Given the description of an element on the screen output the (x, y) to click on. 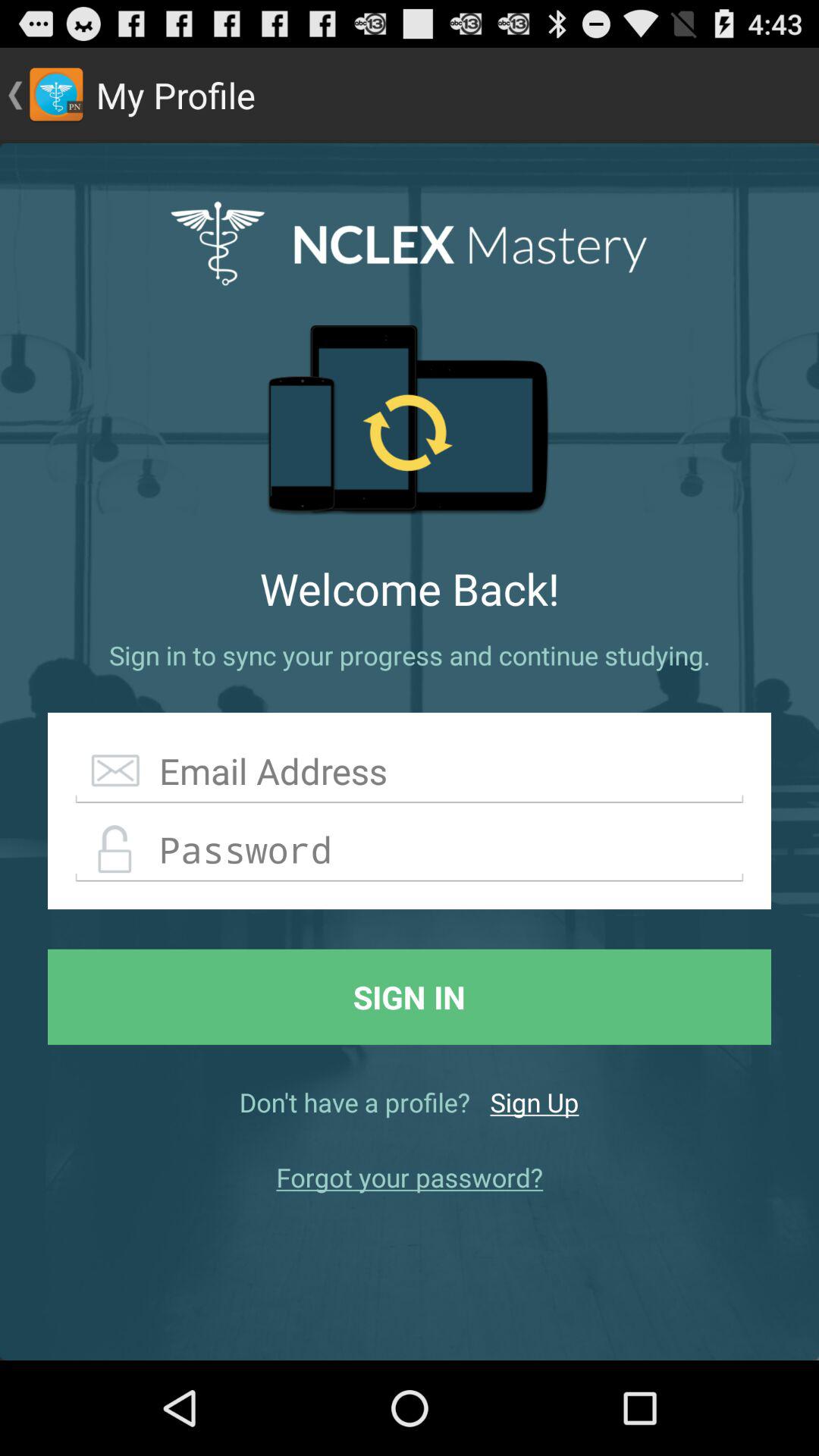
turn on the icon next to the don t have icon (534, 1101)
